Given the description of an element on the screen output the (x, y) to click on. 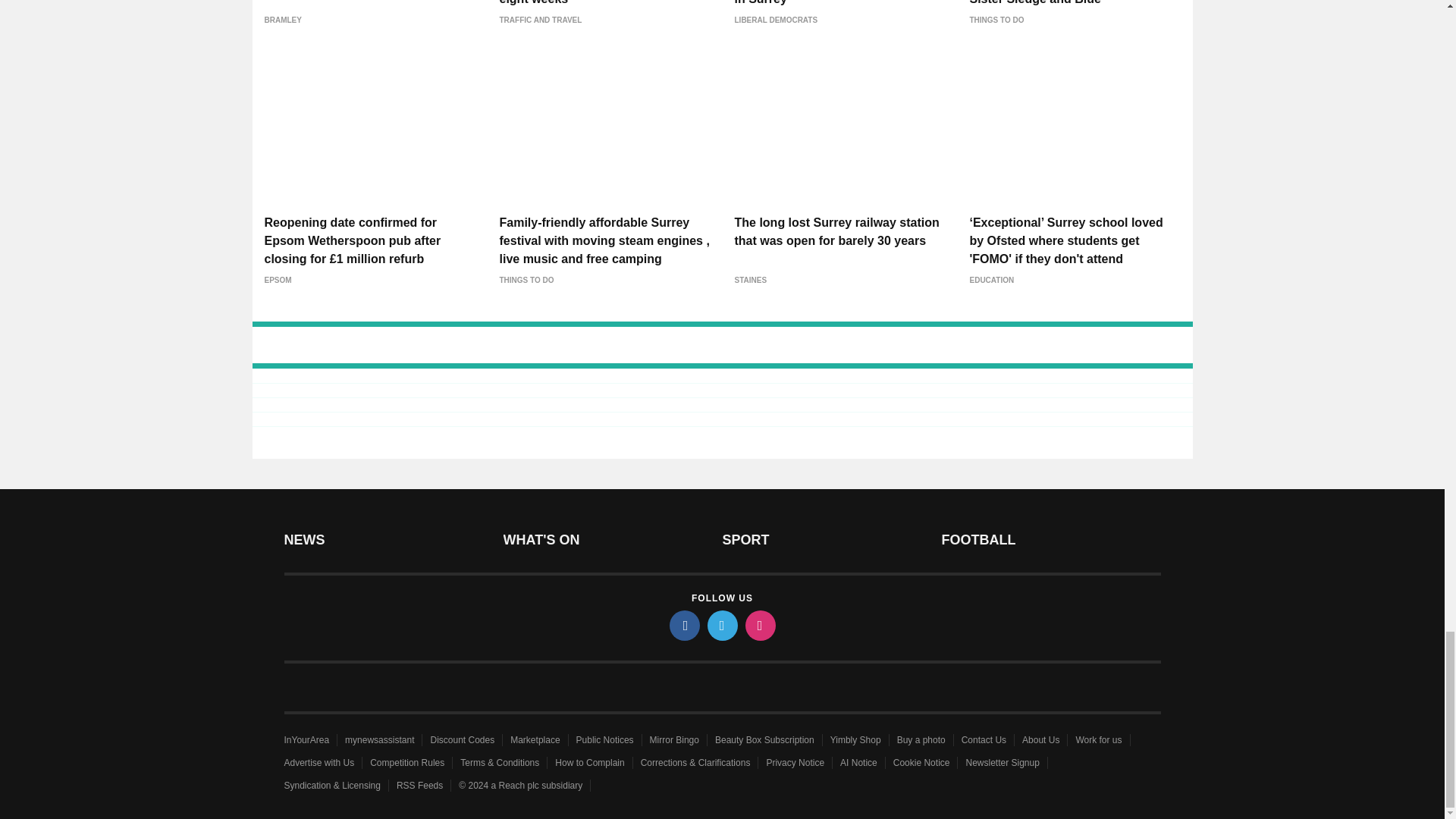
twitter (721, 625)
instagram (759, 625)
facebook (683, 625)
